Given the description of an element on the screen output the (x, y) to click on. 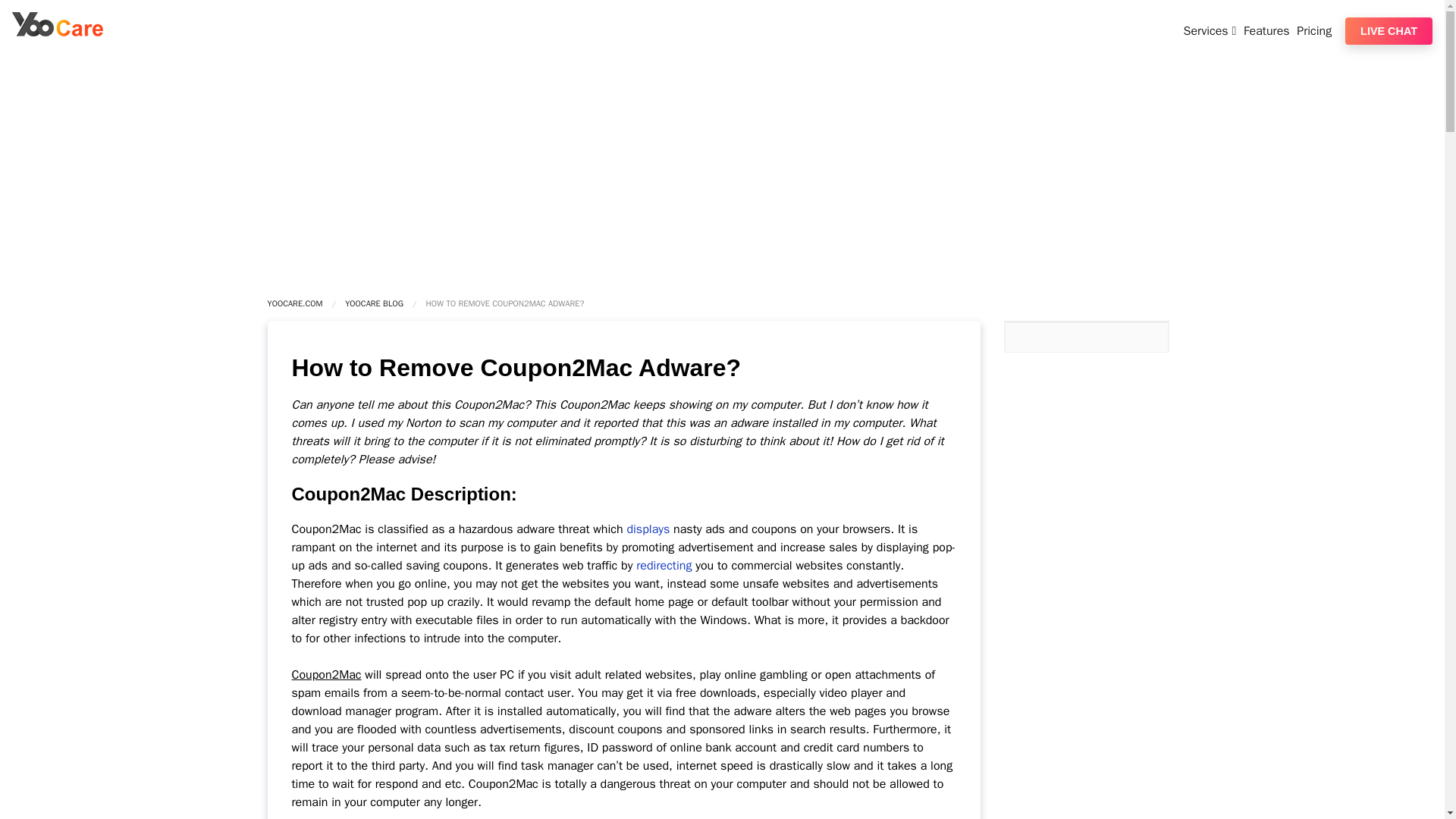
YOOCARE BLOG (374, 303)
displays (649, 529)
Pricing (1316, 30)
Services (1211, 30)
back to YooCare blog home page (374, 303)
Features (1268, 30)
YOOCARE.COM (293, 303)
LIVE CHAT (1388, 31)
YooCare (57, 32)
redirecting (663, 565)
